Given the description of an element on the screen output the (x, y) to click on. 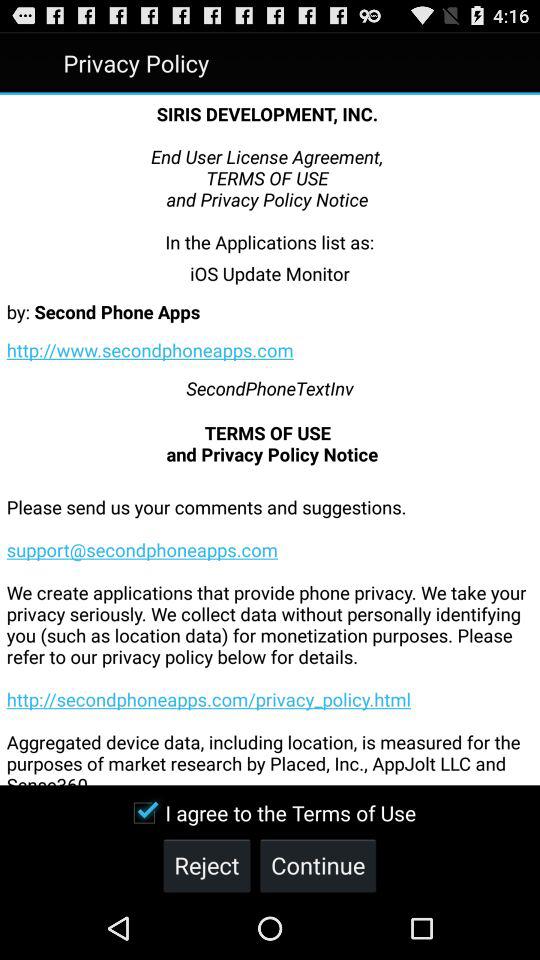
press icon above the reject (269, 812)
